Given the description of an element on the screen output the (x, y) to click on. 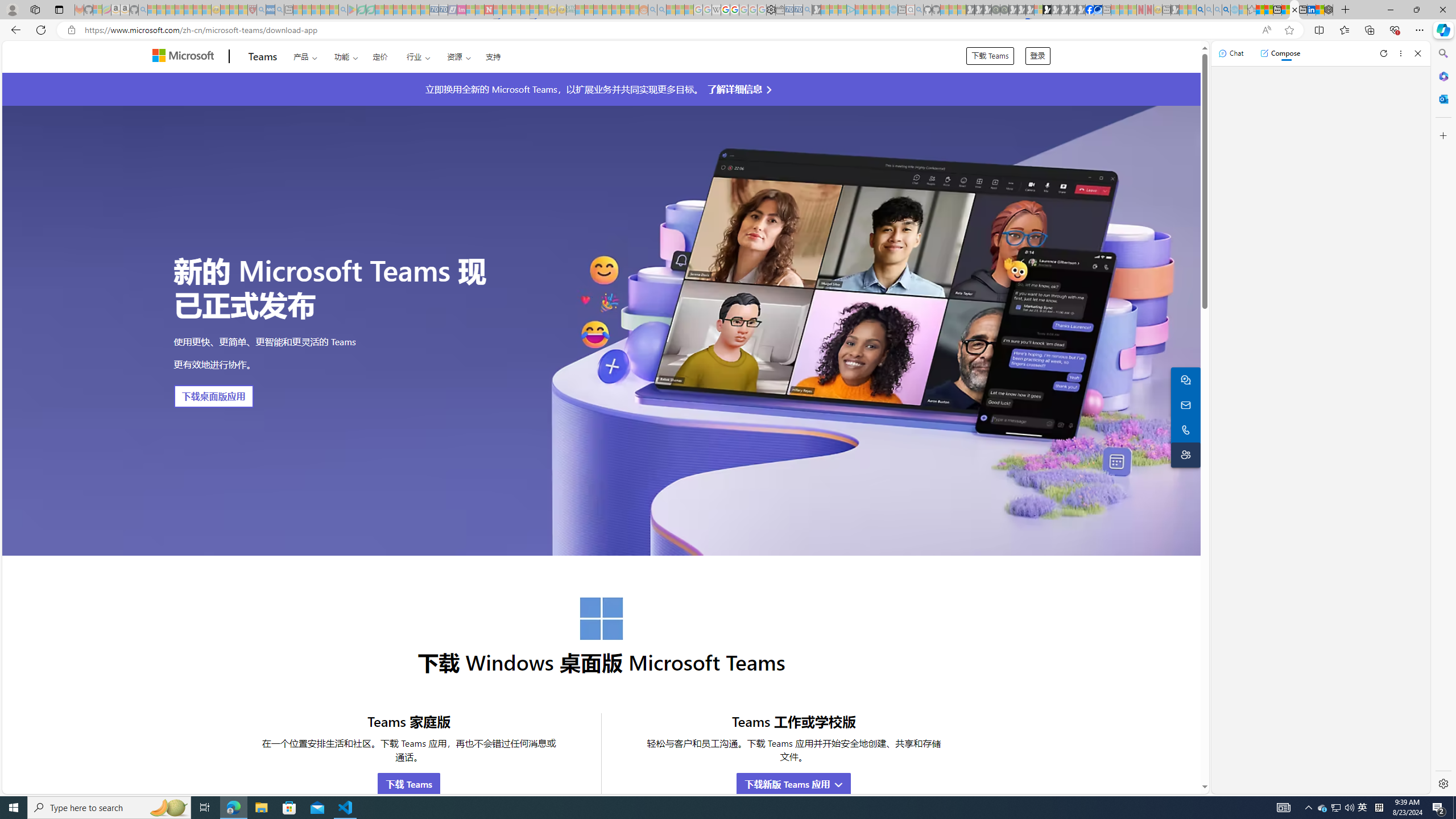
Nordace - Summer Adventures 2024 (1328, 9)
LinkedIn (1311, 9)
Terms of Use Agreement - Sleeping (361, 9)
Local - MSN - Sleeping (242, 9)
Nordace | Facebook (1089, 9)
